Given the description of an element on the screen output the (x, y) to click on. 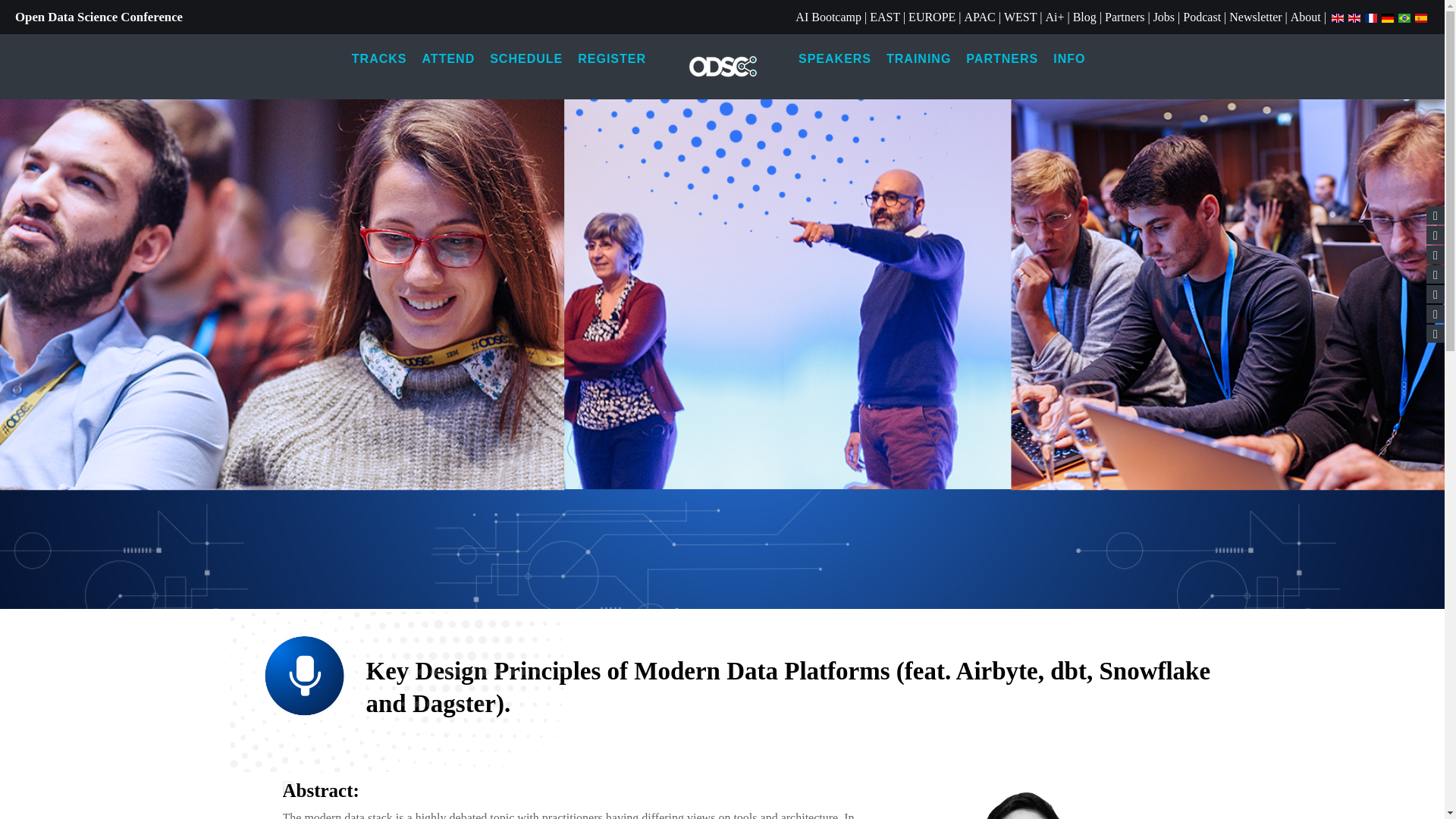
REGISTER (611, 59)
English (1337, 16)
PARTNERS (1001, 59)
Newsletter (1254, 16)
AI Bootcamp (827, 16)
German (1387, 16)
EAST (884, 16)
French (1370, 16)
TRAINING (918, 59)
INFO (1069, 59)
